Given the description of an element on the screen output the (x, y) to click on. 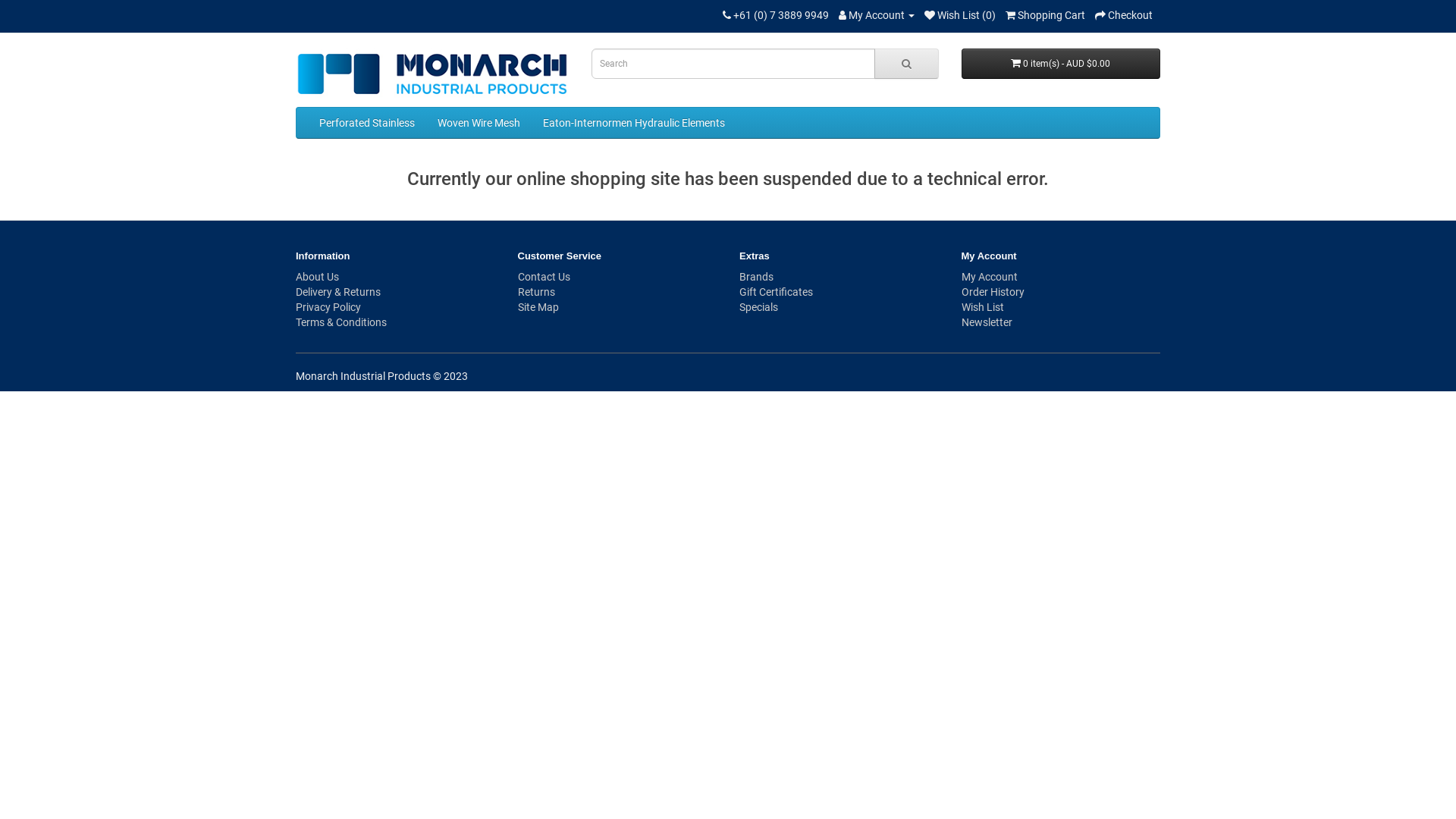
Wish List (0) Element type: text (959, 15)
Delivery & Returns Element type: text (337, 291)
Eaton-Internormen Hydraulic Elements Element type: text (633, 122)
Wish List Element type: text (982, 307)
Gift Certificates Element type: text (775, 291)
Site Map Element type: text (537, 307)
Contact Us Element type: text (543, 276)
Terms & Conditions Element type: text (340, 322)
Privacy Policy Element type: text (327, 307)
Newsletter Element type: text (986, 322)
My Account Element type: text (876, 15)
Brands Element type: text (756, 276)
About Us Element type: text (316, 276)
My Account Element type: text (989, 276)
Monarch Industrial Products  Element type: hover (431, 73)
0 item(s) - AUD $0.00 Element type: text (1061, 63)
Perforated Stainless Element type: text (366, 122)
Specials Element type: text (758, 307)
Woven Wire Mesh Element type: text (478, 122)
Checkout Element type: text (1123, 15)
Returns Element type: text (535, 291)
Shopping Cart Element type: text (1045, 15)
Order History Element type: text (992, 291)
